Given the description of an element on the screen output the (x, y) to click on. 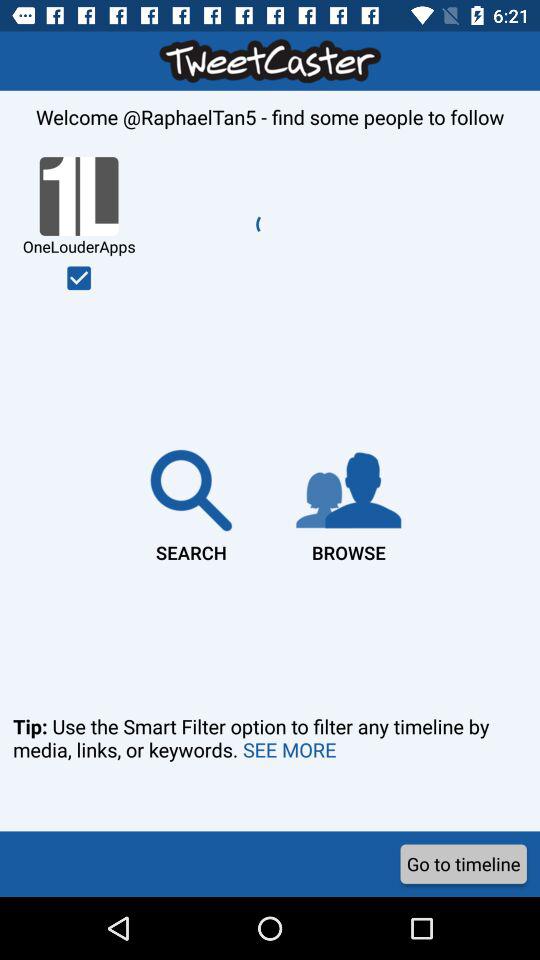
scroll until the search (191, 502)
